Given the description of an element on the screen output the (x, y) to click on. 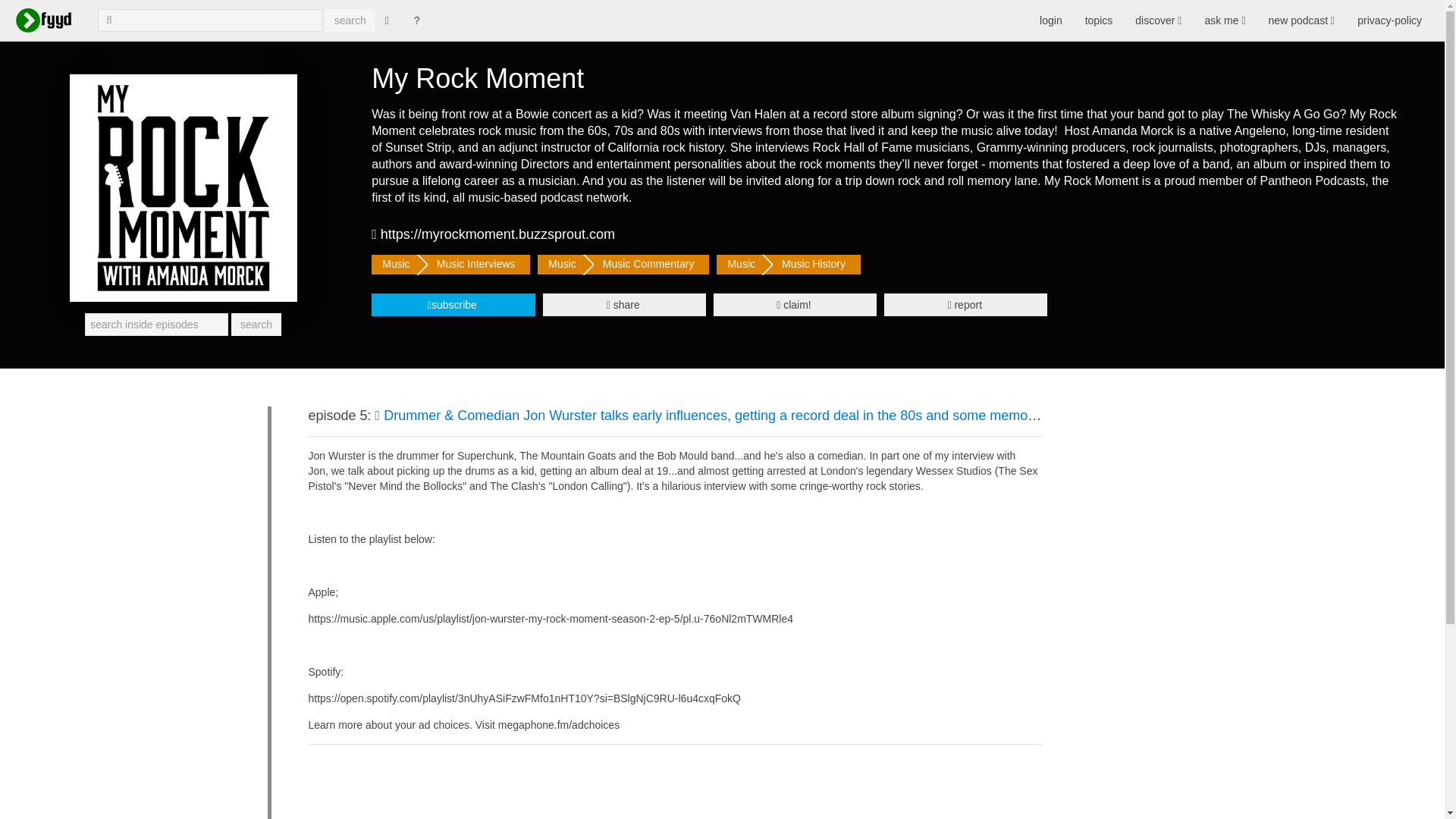
search (349, 20)
discover (1158, 20)
ask me (1224, 20)
topics (1099, 20)
login (1050, 20)
privacy-policy (1388, 20)
? (416, 20)
new podcast (1301, 20)
